Given the description of an element on the screen output the (x, y) to click on. 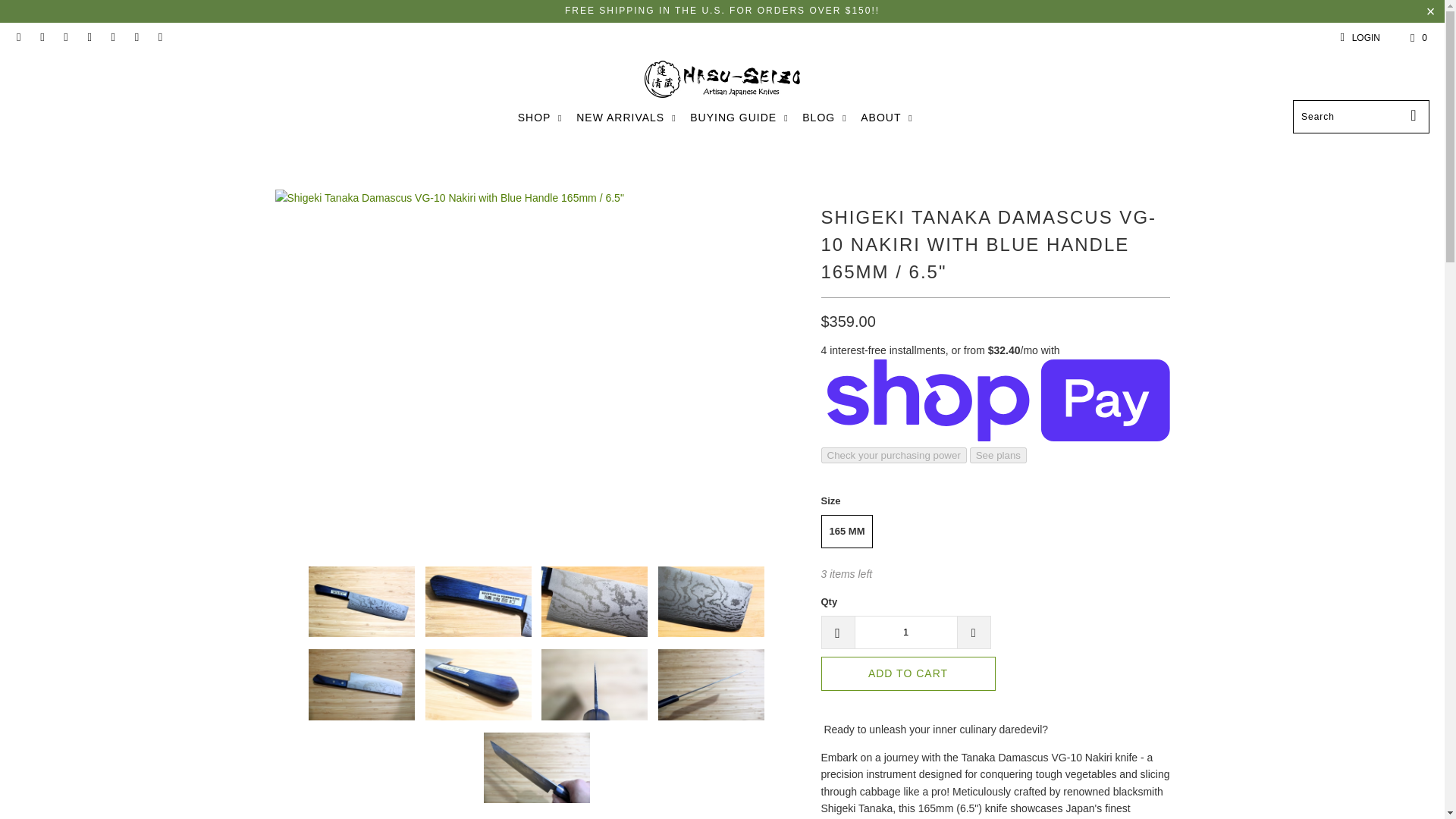
1 (904, 632)
Hasu-Seizo on YouTube (64, 37)
Hasu-Seizo on Instagram (112, 37)
Hasu-Seizo (722, 79)
Hasu-Seizo on Pinterest (87, 37)
My Account  (1357, 37)
Email Hasu-Seizo (135, 37)
Hasu-Seizo on Facebook (41, 37)
Hasu-Seizo on Twitter (17, 37)
